Given the description of an element on the screen output the (x, y) to click on. 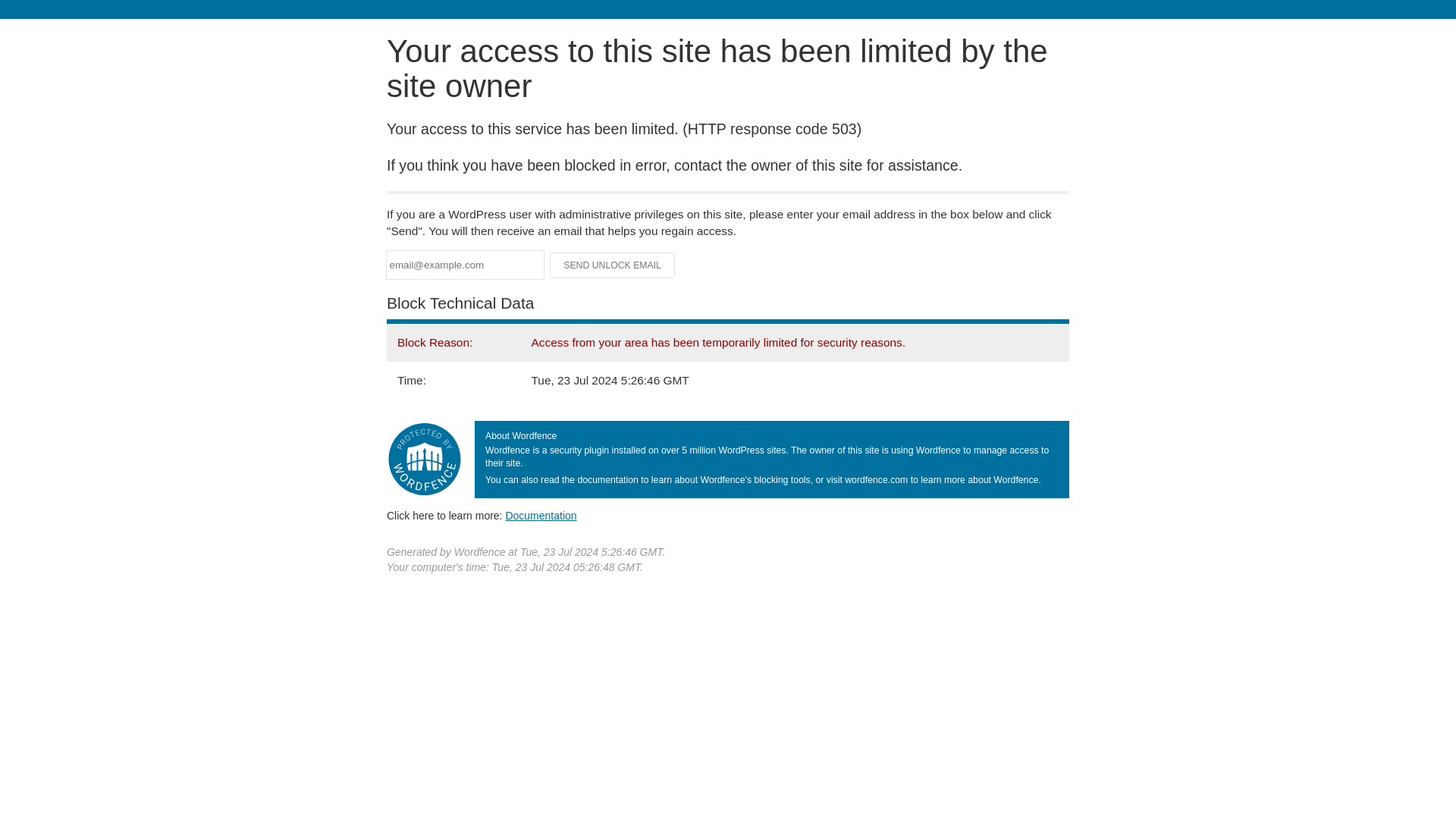
Documentation (540, 515)
Send Unlock Email (612, 265)
Send Unlock Email (612, 265)
